Given the description of an element on the screen output the (x, y) to click on. 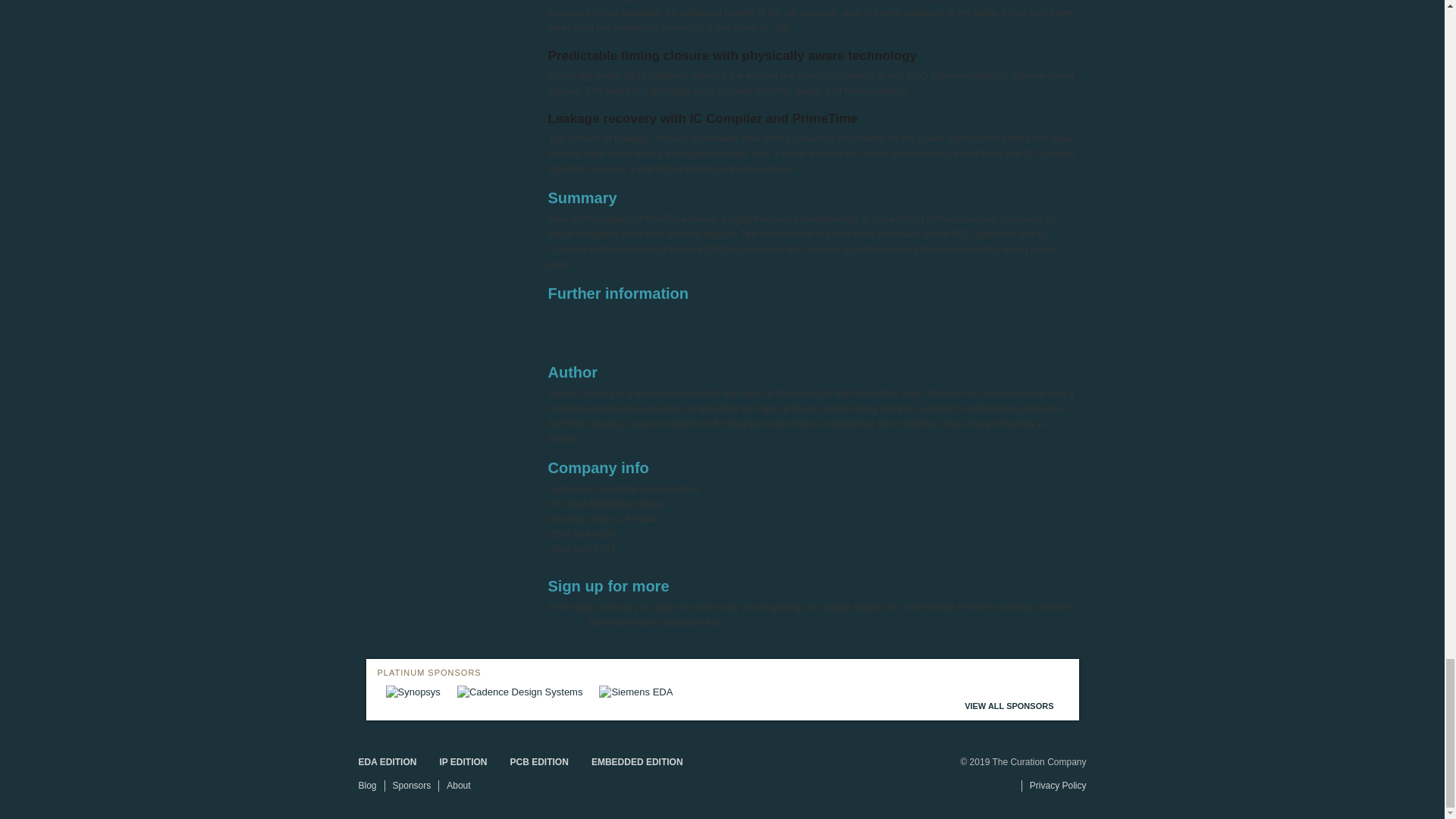
Cadence Design Systems (520, 692)
Siemens EDA (635, 692)
Synopsys (412, 692)
VIEW ALL SPONSORS (1010, 705)
PrimeTime ECO Guidance Technology Page on Synopsys.com (684, 314)
www.synopsys.com (593, 564)
Register (565, 622)
